Given the description of an element on the screen output the (x, y) to click on. 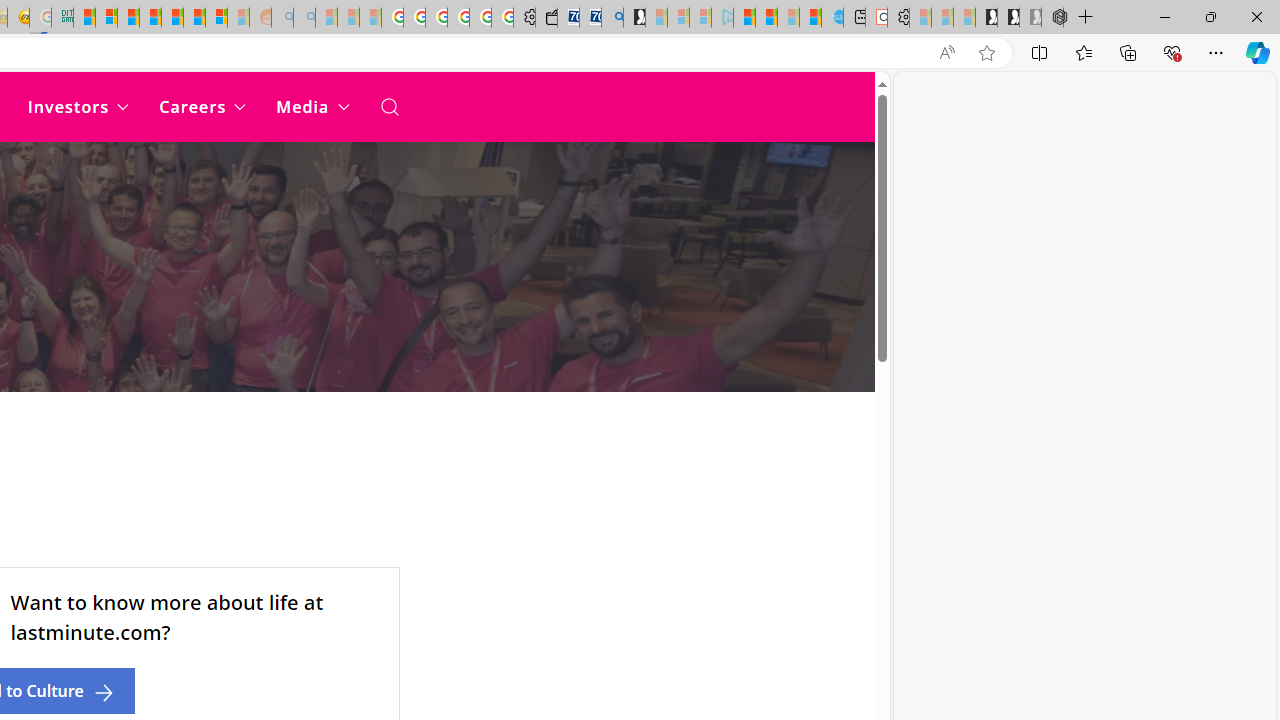
Favorites (1083, 52)
Investors (78, 106)
Careers (202, 106)
Settings and more (Alt+F) (1215, 52)
Media (312, 106)
MSNBC - MSN (84, 17)
Microsoft account | Privacy (106, 17)
Microsoft Start (744, 17)
Copilot (Ctrl+Shift+.) (1258, 52)
Cheap Car Rentals - Save70.com (590, 17)
Nordace - Nordace Siena Is Not An Ordinary Backpack (1052, 17)
Investors (78, 106)
Open Search (388, 106)
